Given the description of an element on the screen output the (x, y) to click on. 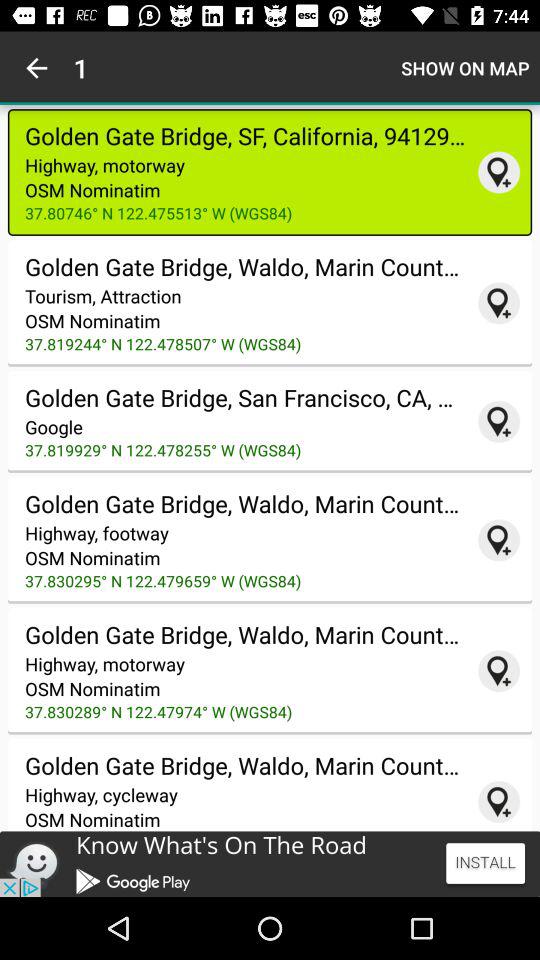
place marker on the location (499, 303)
